Given the description of an element on the screen output the (x, y) to click on. 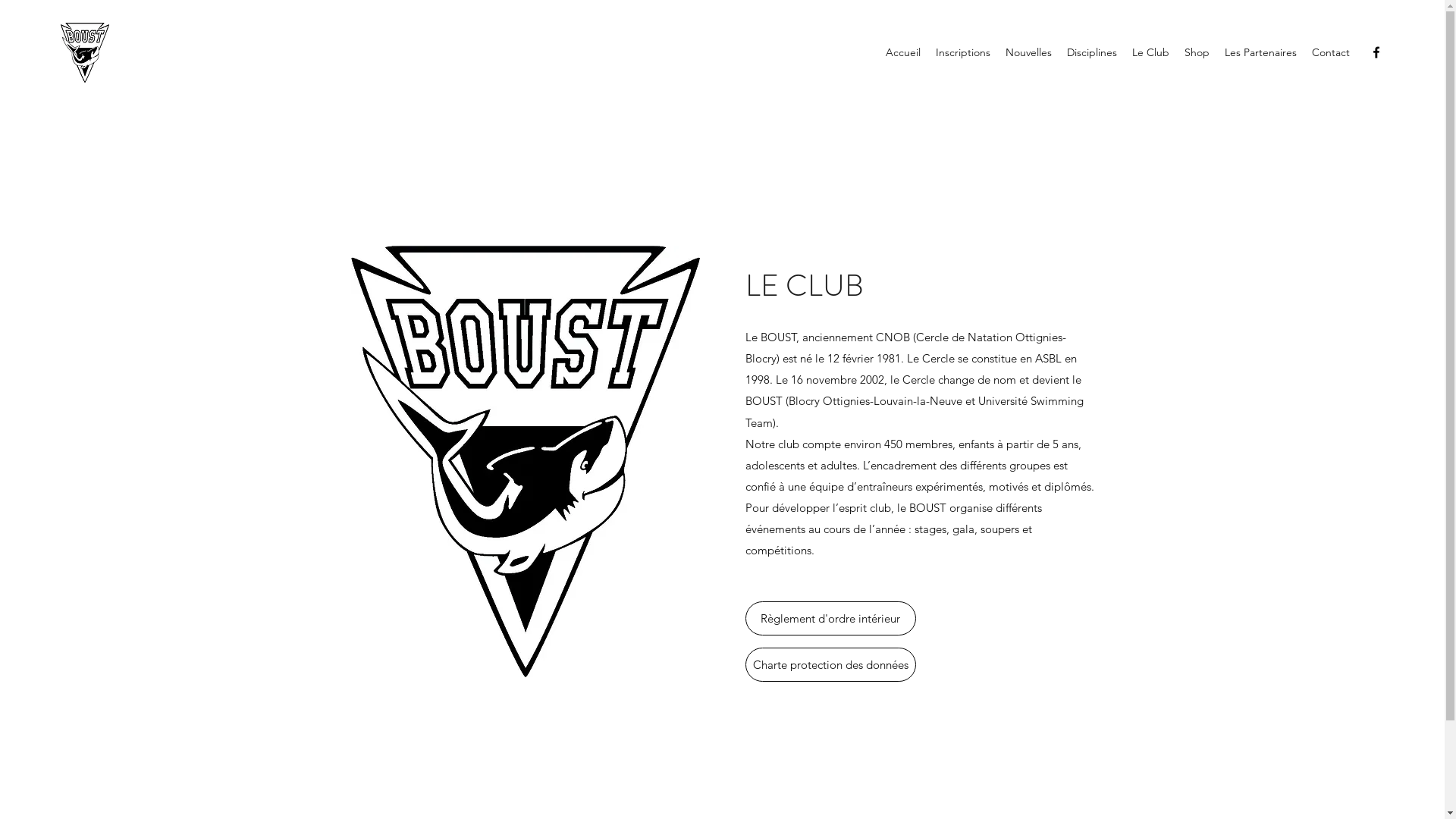
Nouvelles Element type: text (1028, 51)
Le Club Element type: text (1150, 51)
Contact Element type: text (1330, 51)
Shop Element type: text (1196, 51)
Inscriptions Element type: text (962, 51)
Accueil Element type: text (903, 51)
Disciplines Element type: text (1091, 51)
Les Partenaires Element type: text (1260, 51)
